Given the description of an element on the screen output the (x, y) to click on. 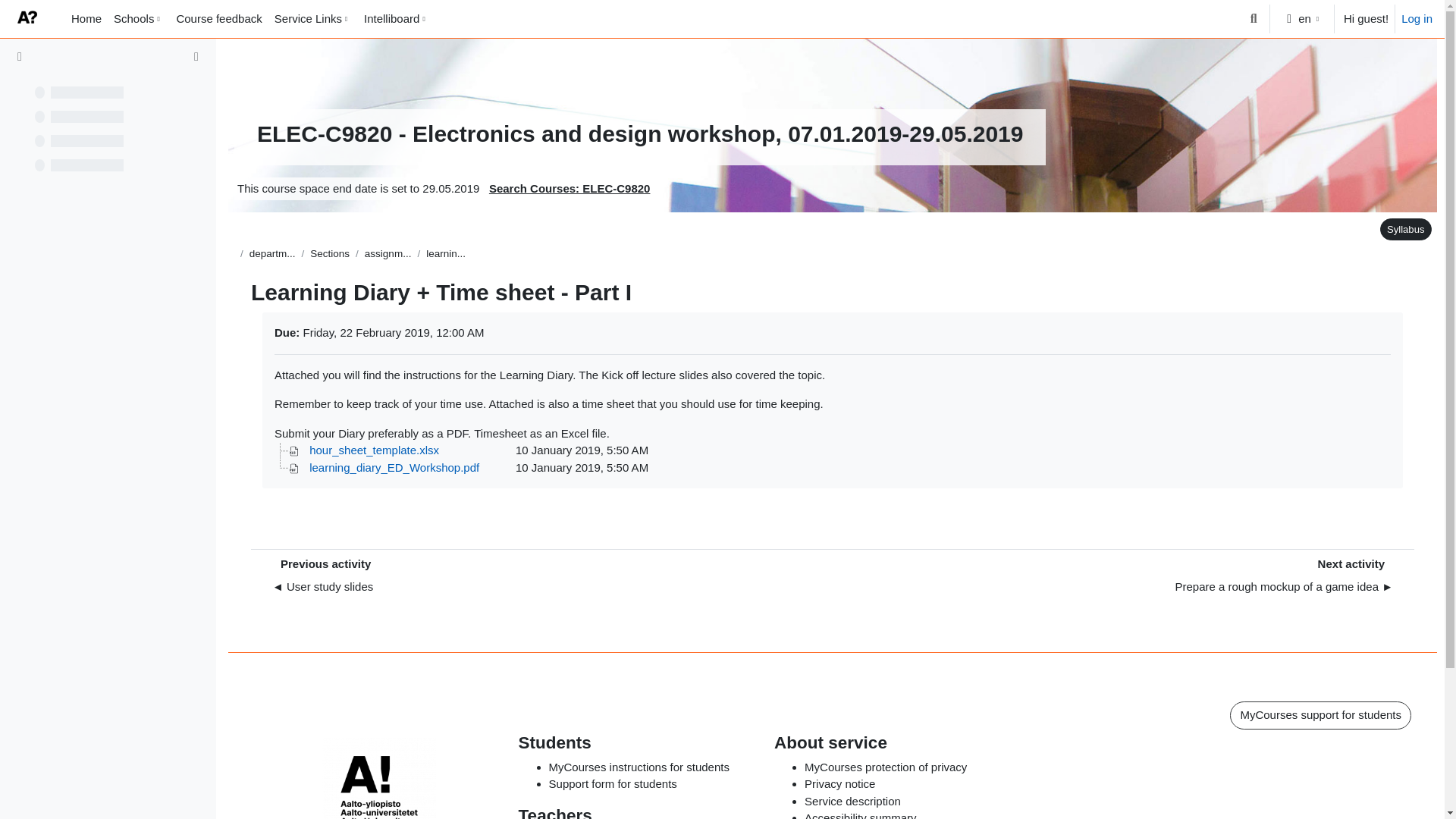
Close course index (19, 57)
Toggle search input (1253, 18)
Course index options (196, 56)
Syllabus (1405, 229)
View course syllabus (1402, 229)
Home (86, 18)
Schools (138, 18)
Service Links (312, 18)
Course feedback (218, 18)
Assignment (445, 253)
